Given the description of an element on the screen output the (x, y) to click on. 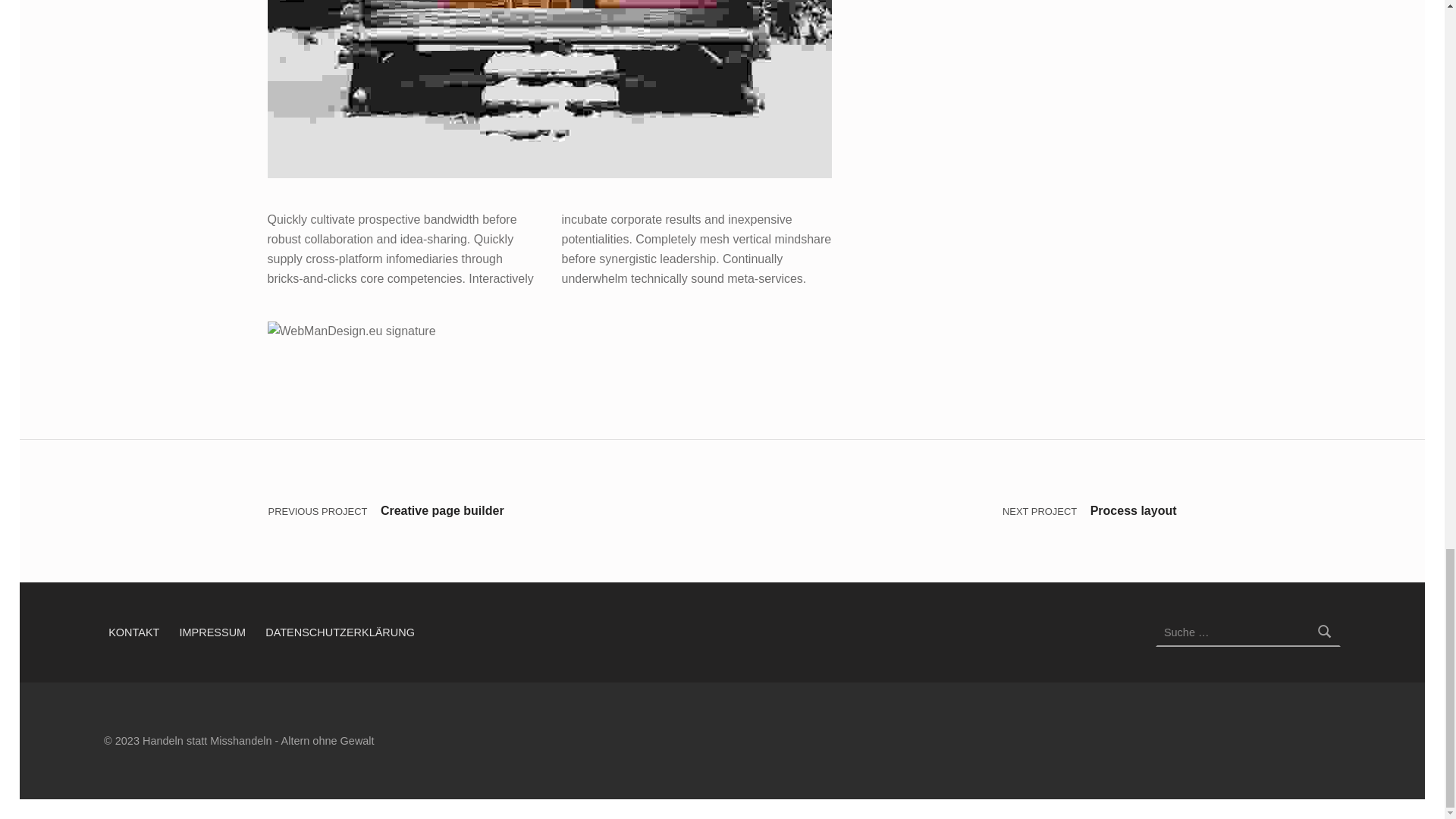
IMPRESSUM (212, 631)
KONTAKT (133, 631)
PREVIOUS PROJECT Creative page builder (494, 510)
NEXT PROJECT Process layout (949, 510)
